Given the description of an element on the screen output the (x, y) to click on. 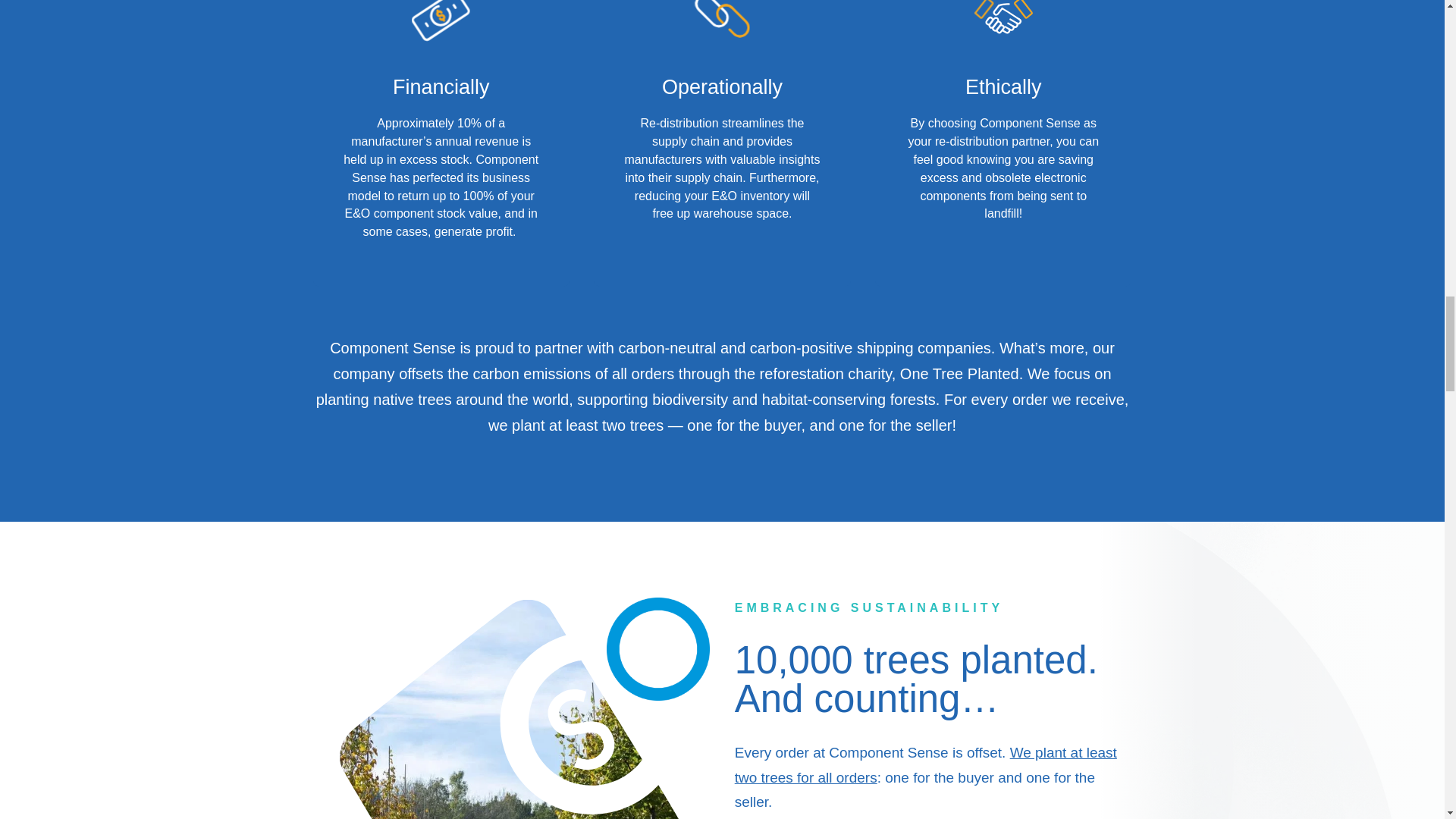
Spring Trees (511, 708)
Blue Ring (658, 649)
